Given the description of an element on the screen output the (x, y) to click on. 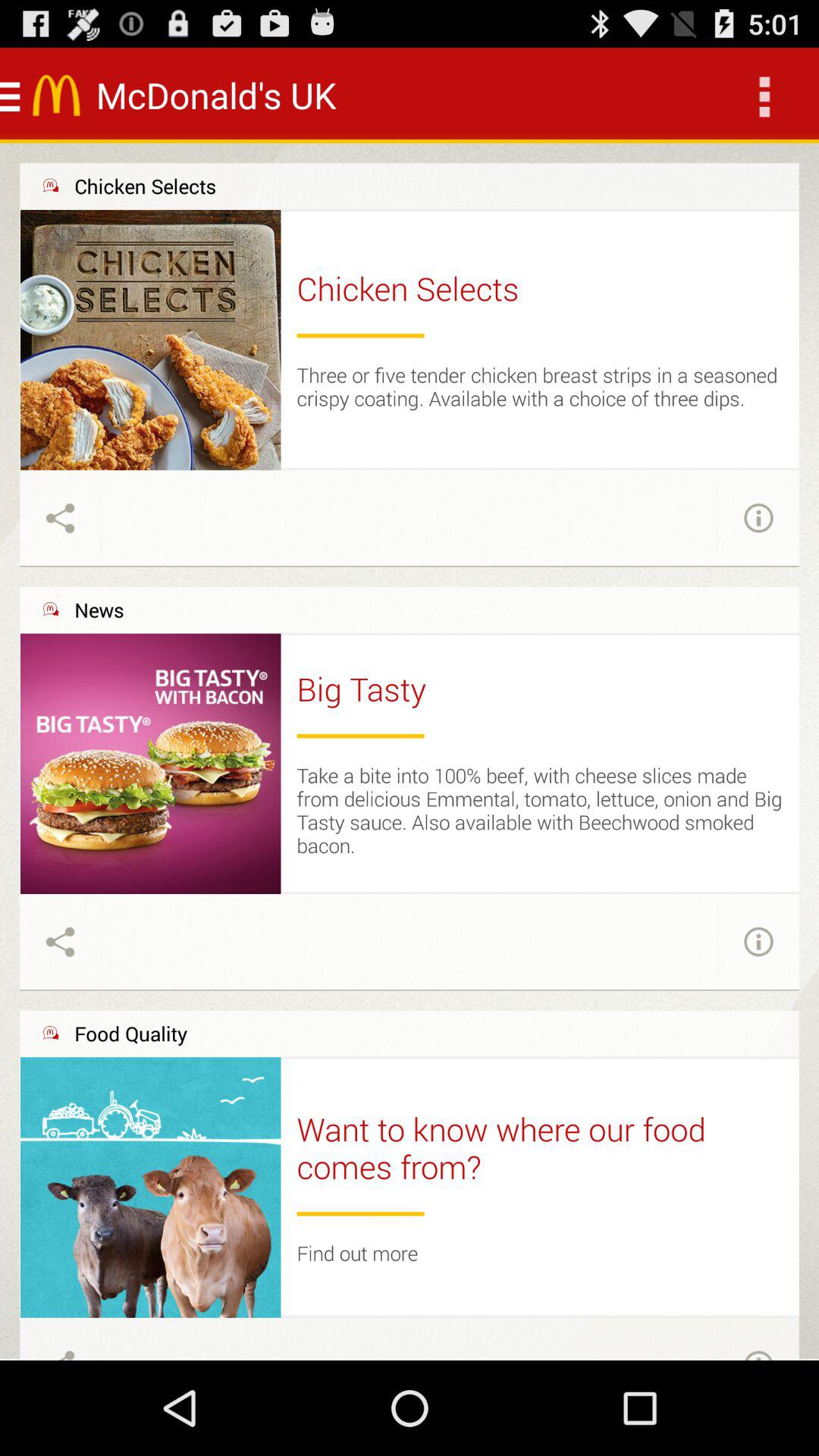
select want to know (539, 1147)
